Given the description of an element on the screen output the (x, y) to click on. 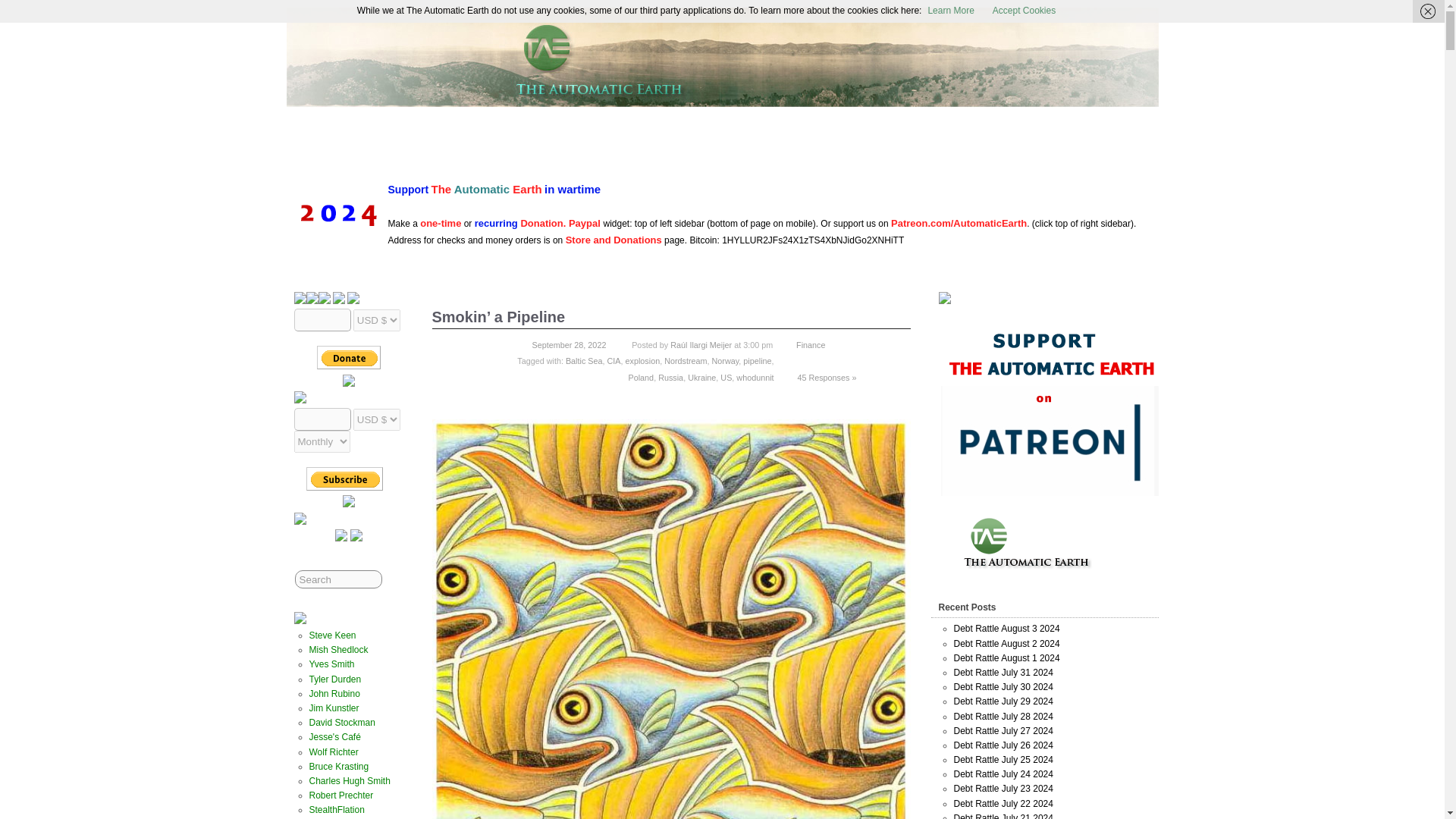
Russia (670, 377)
whodunnit (754, 377)
The Automatic Earth (860, 36)
pipeline (756, 360)
Archives (577, 143)
Nordstream (684, 360)
The Automatic Earth (498, 143)
Finance (810, 344)
Poland (640, 377)
Primers (680, 143)
Baltic Sea (584, 360)
Search (338, 579)
Search (338, 579)
Store and Donations (614, 240)
US (726, 377)
